Given the description of an element on the screen output the (x, y) to click on. 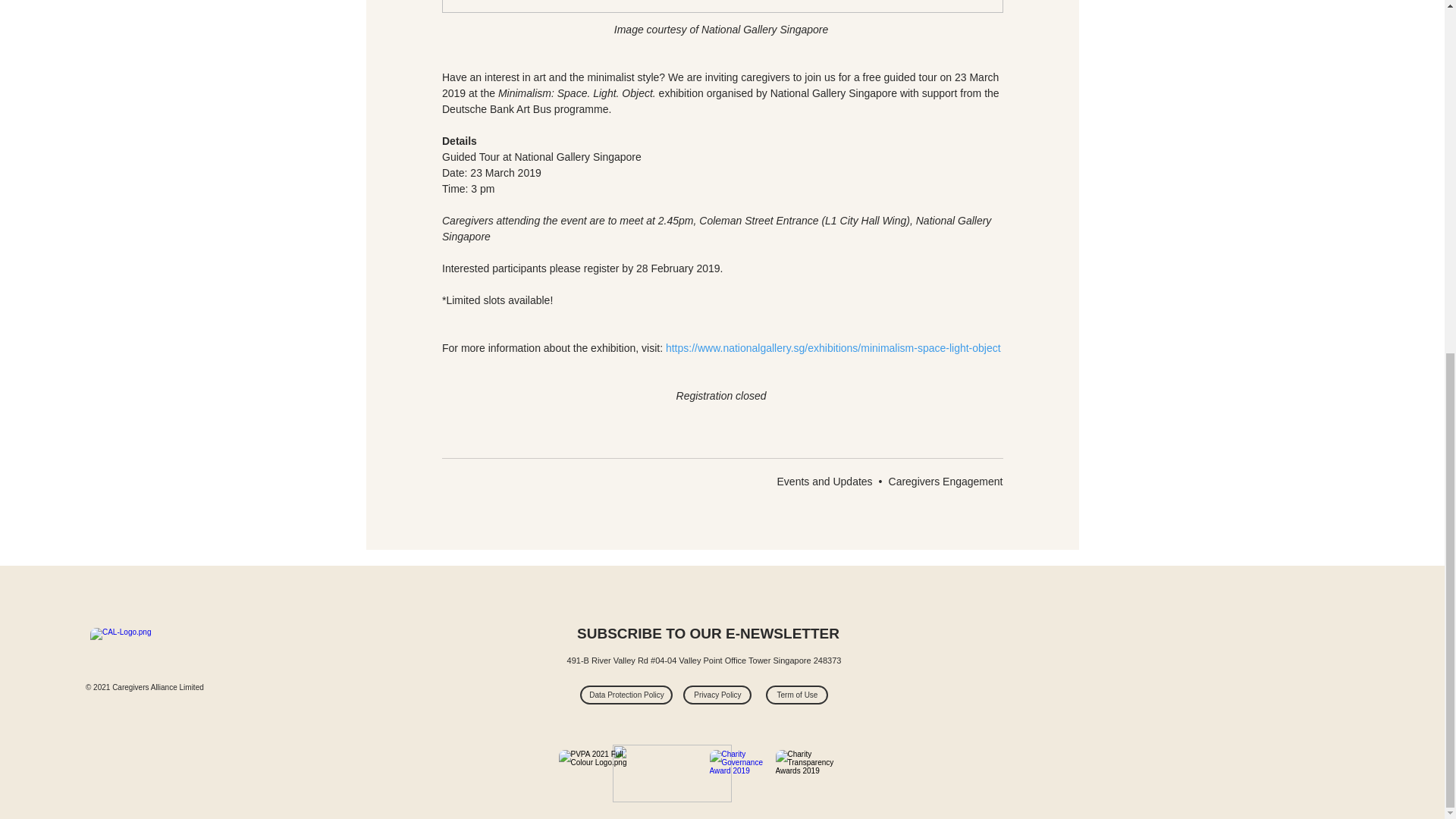
Charity Governance Award 2019 (745, 773)
Charity Transparency Awards 2019 (809, 773)
Events and Updates (824, 481)
SUBSCRIBE TO OUR E-NEWSLETTER (707, 634)
Caregivers Engagement (945, 481)
Charity Transparency Awards 2019 (592, 773)
CTA 2022.png (672, 773)
Privacy Policy (716, 694)
Term of Use (796, 694)
Data Protection Policy (625, 694)
Home (143, 651)
